Given the description of an element on the screen output the (x, y) to click on. 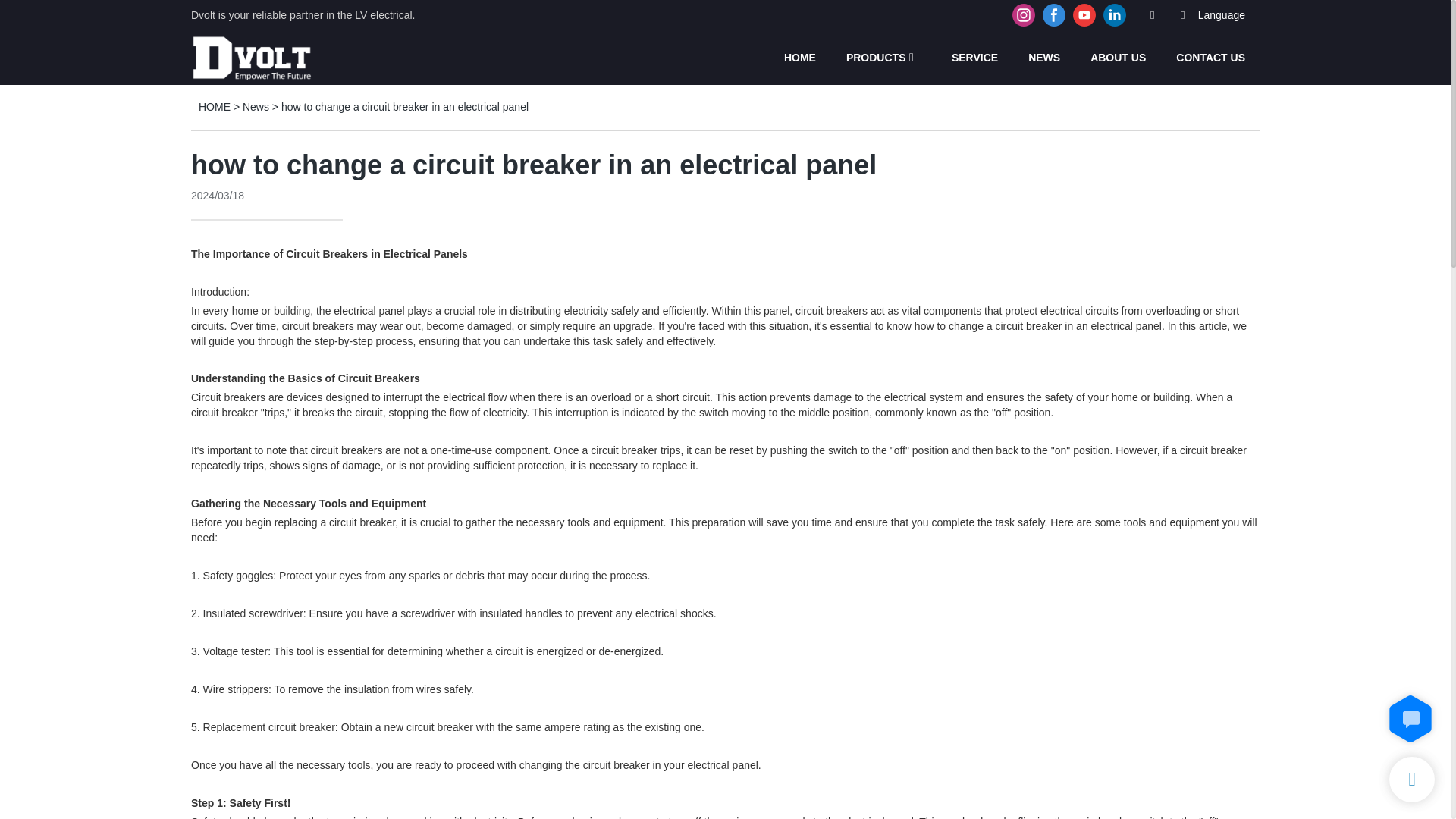
youtube (1083, 15)
how to change a circuit breaker in an electrical panel (404, 106)
HOME (214, 106)
facebook (1053, 15)
SERVICE (974, 57)
News (256, 106)
instagram (1024, 15)
ABOUT US (1117, 57)
PRODUCTS (875, 57)
linkedin (1114, 15)
CONTACT US (1210, 57)
HOME (799, 57)
NEWS (1043, 57)
